Given the description of an element on the screen output the (x, y) to click on. 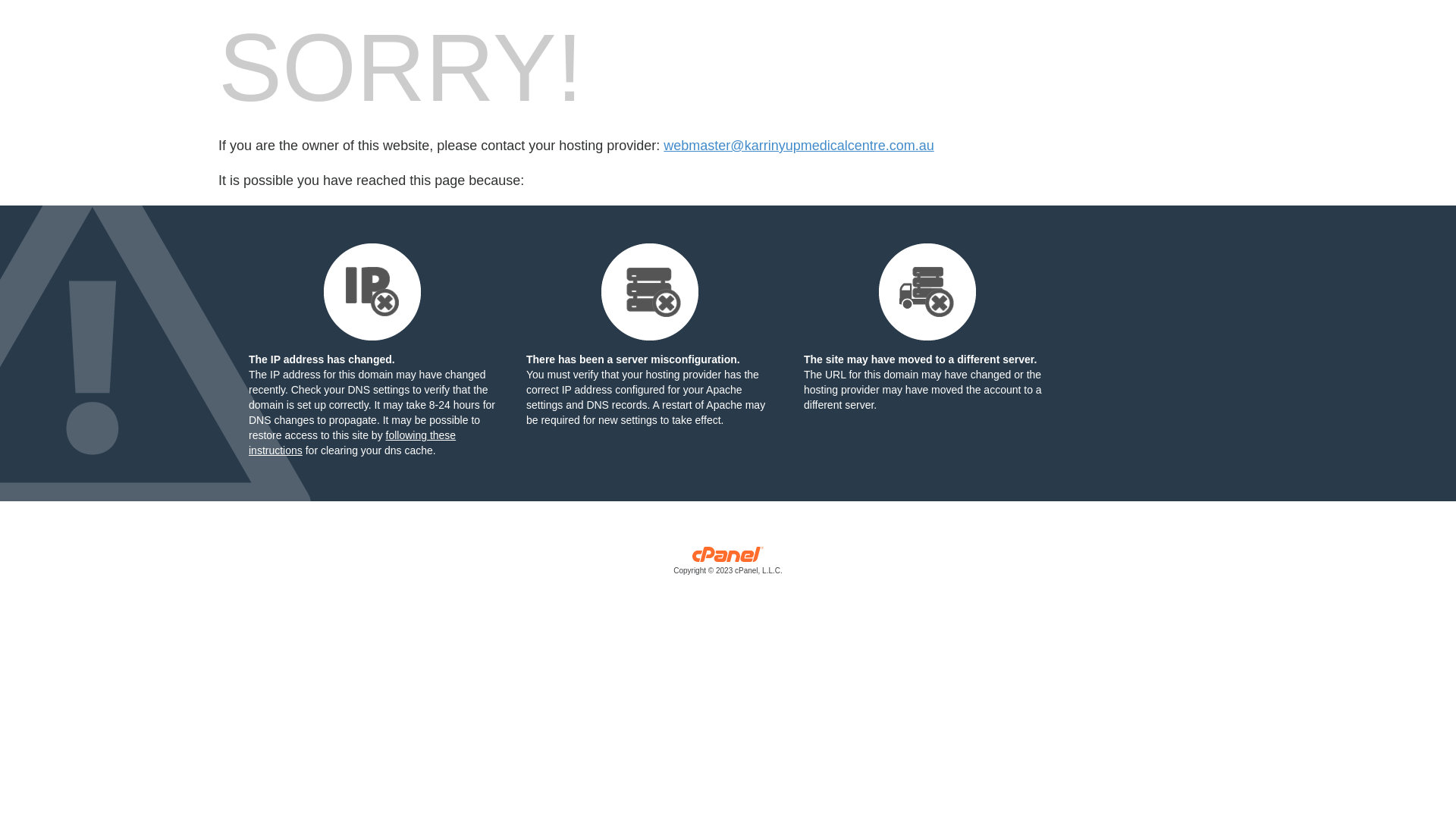
webmaster@karrinyupmedicalcentre.com.au Element type: text (798, 145)
following these instructions Element type: text (351, 442)
